Given the description of an element on the screen output the (x, y) to click on. 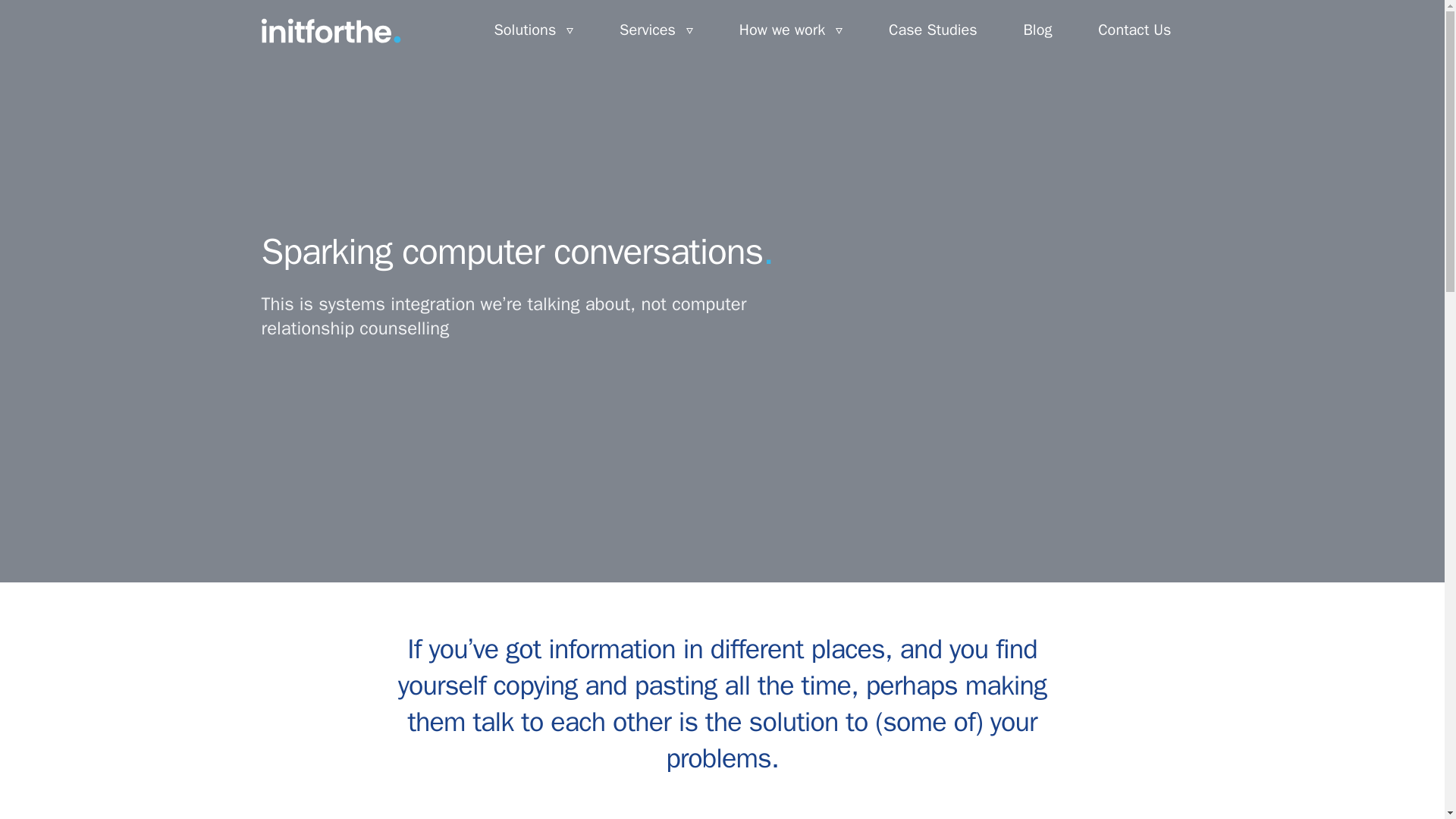
Solutions (533, 29)
Case Studies (933, 29)
Services (655, 29)
How we work (790, 29)
Contact Us (1134, 29)
Go back to the Initforthe homepage (330, 30)
Blog (1037, 29)
